Given the description of an element on the screen output the (x, y) to click on. 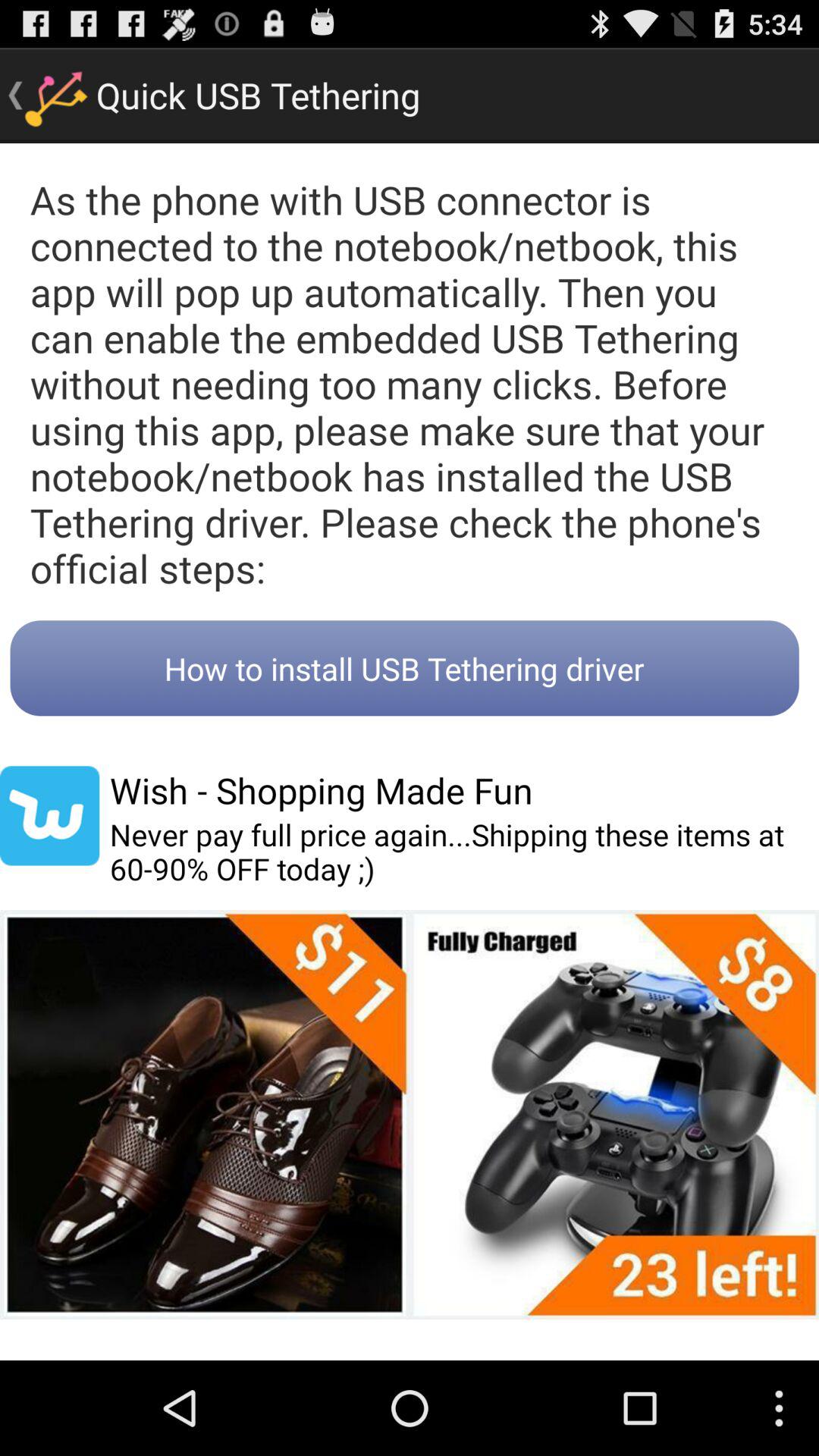
tap item above never pay full icon (320, 790)
